Given the description of an element on the screen output the (x, y) to click on. 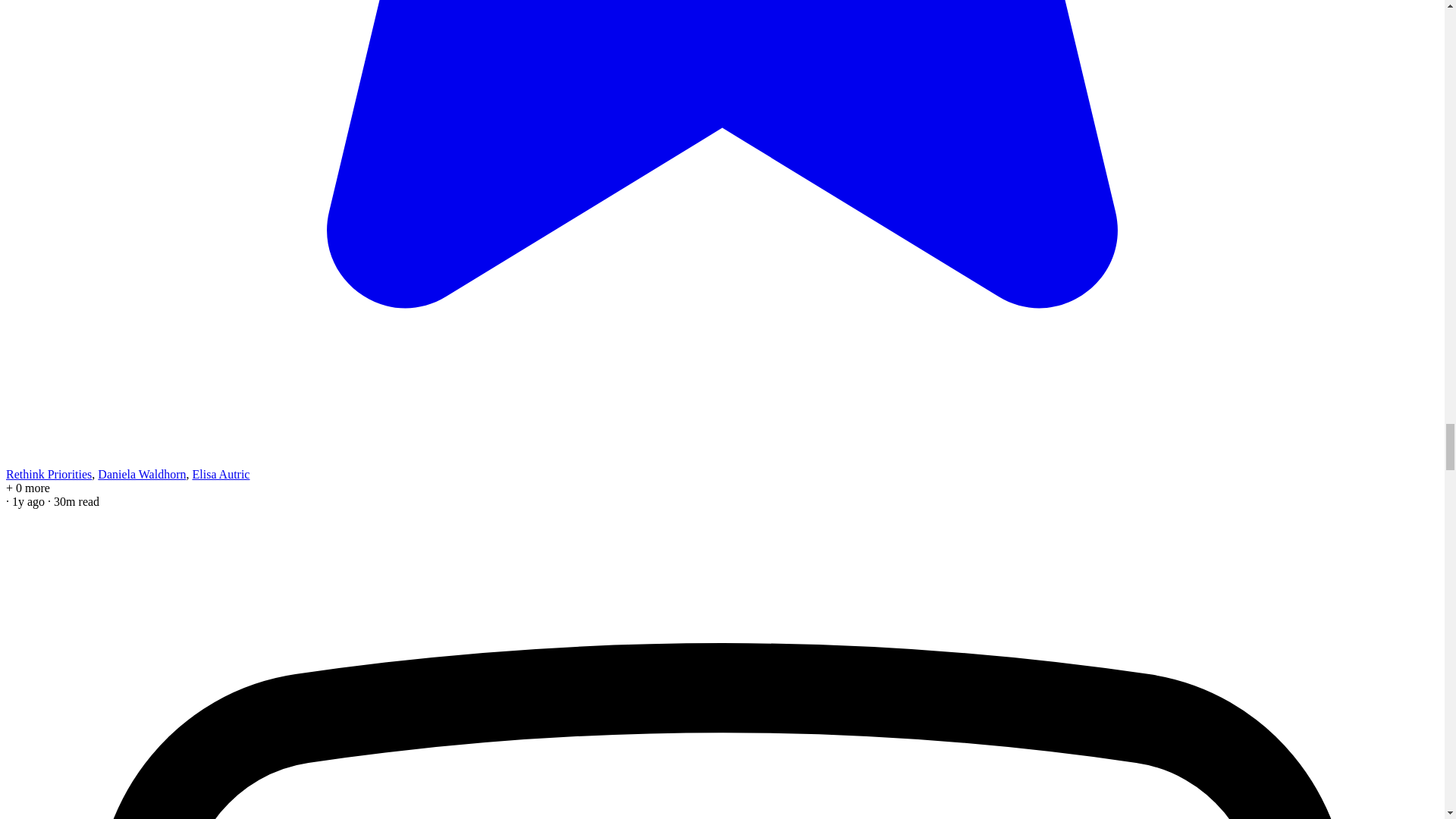
Rethink Priorities (48, 473)
Daniela Waldhorn (141, 473)
Elisa Autric (220, 473)
